Given the description of an element on the screen output the (x, y) to click on. 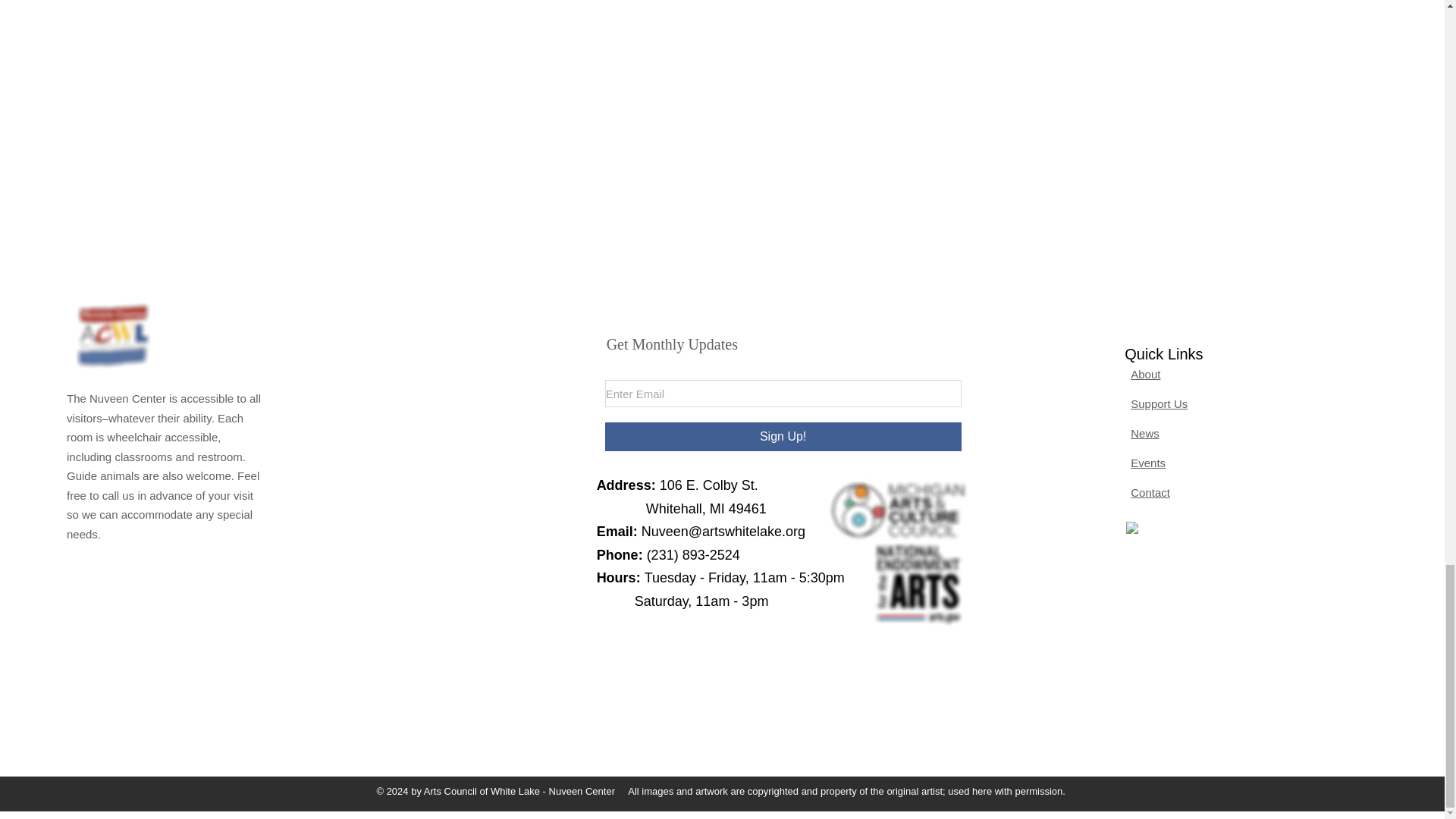
Sign Up! (782, 436)
About (1145, 373)
Embedded Content (1183, 578)
